Given the description of an element on the screen output the (x, y) to click on. 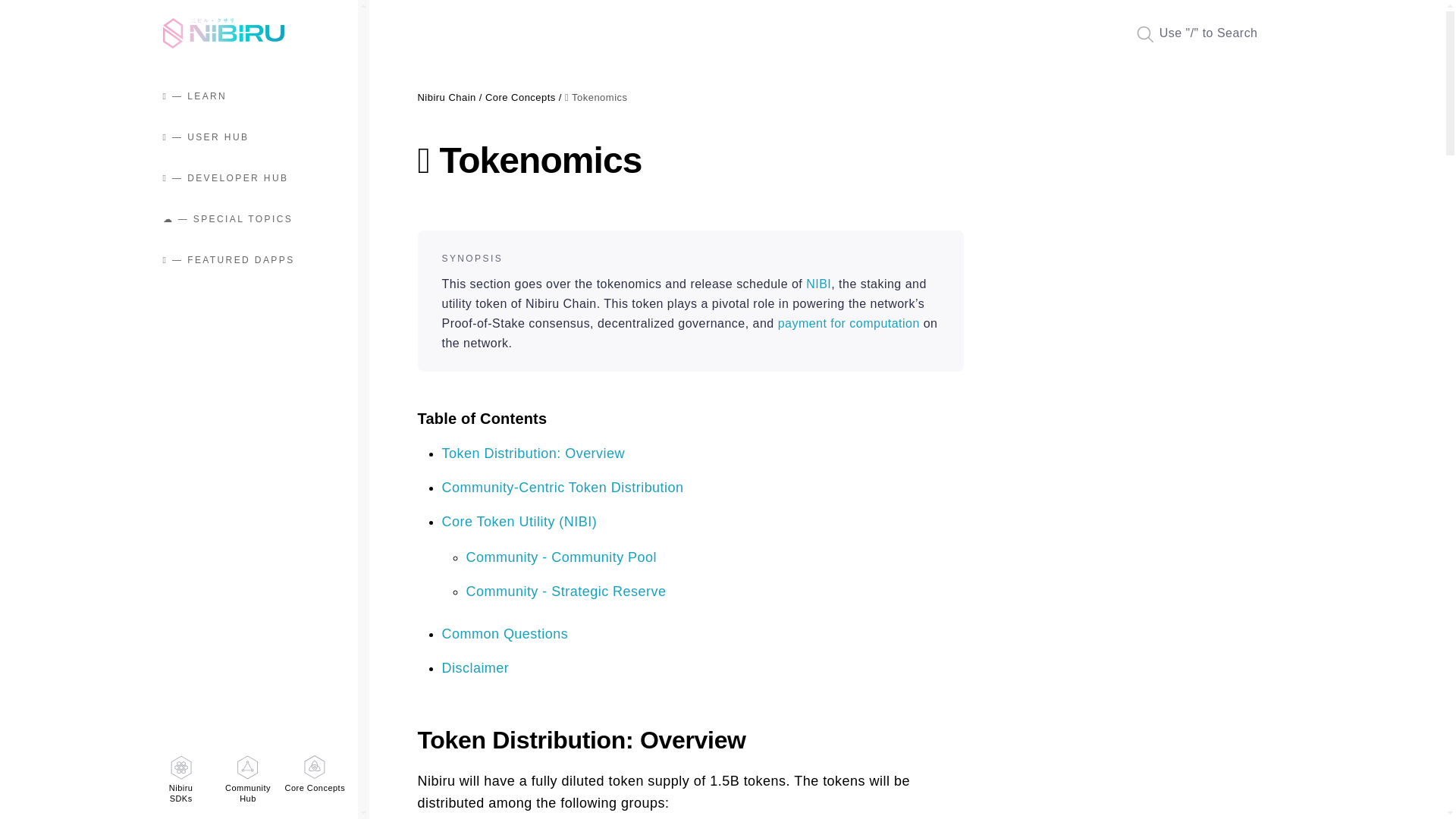
Common Questions (504, 633)
Token Distribution: Overview (532, 453)
NIBI (818, 283)
Core Concepts (247, 779)
payment for computation (524, 97)
Nibiru Chain (180, 779)
Core Concepts (848, 323)
Disclaimer (450, 97)
